Given the description of an element on the screen output the (x, y) to click on. 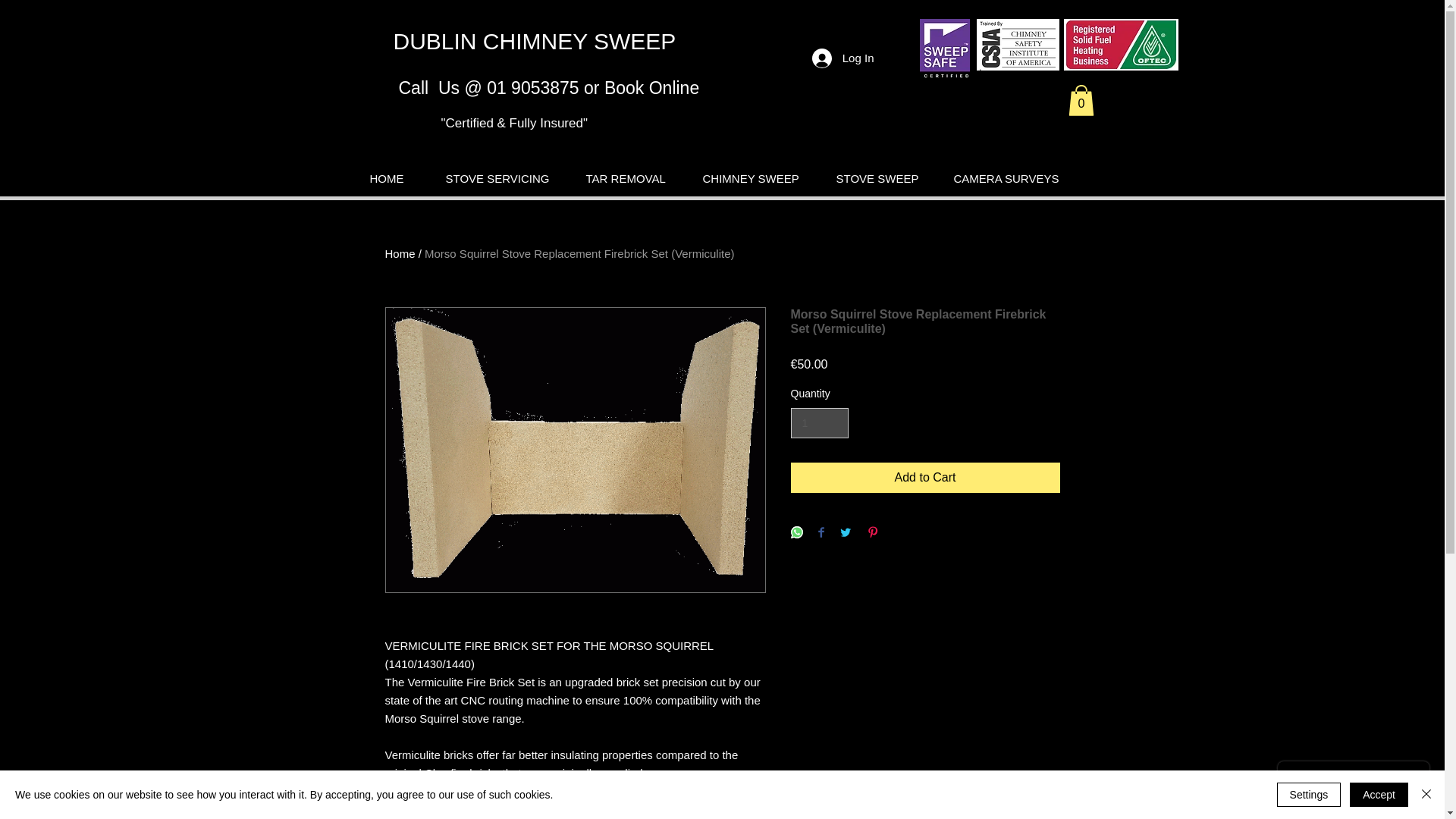
We are OFTEC Solid Fuel Approved (1119, 44)
Home (399, 253)
CHIMNEY SWEEP (757, 178)
STOVE SWEEP (882, 178)
CAMERA SURVEYS (1013, 178)
Settings (1308, 794)
Log In (843, 58)
Accept (1378, 794)
1 (818, 422)
DUBLIN CHIMNEY SWEEP (534, 41)
